Given the description of an element on the screen output the (x, y) to click on. 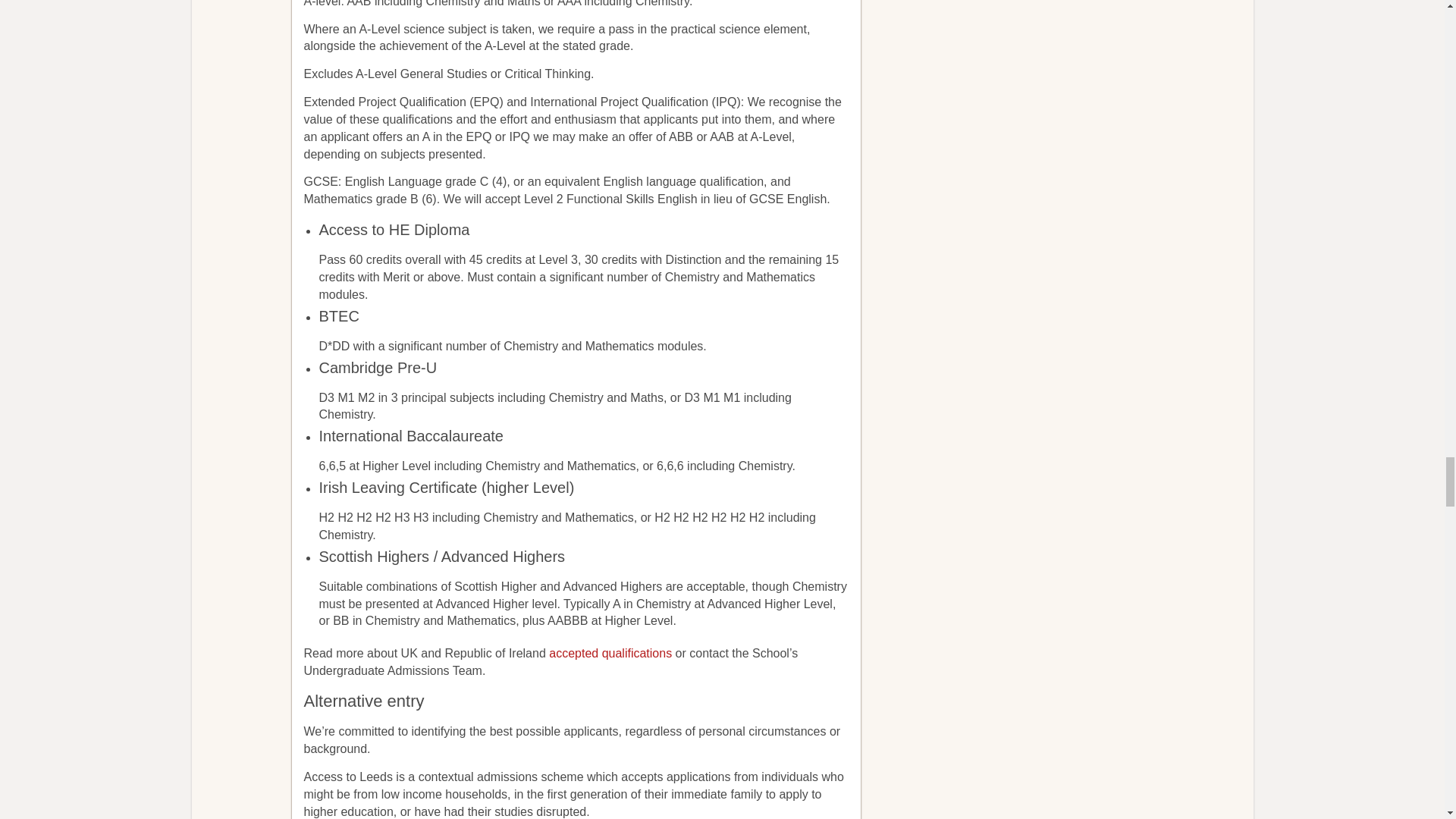
the University's accepted qualifications (609, 653)
